Given the description of an element on the screen output the (x, y) to click on. 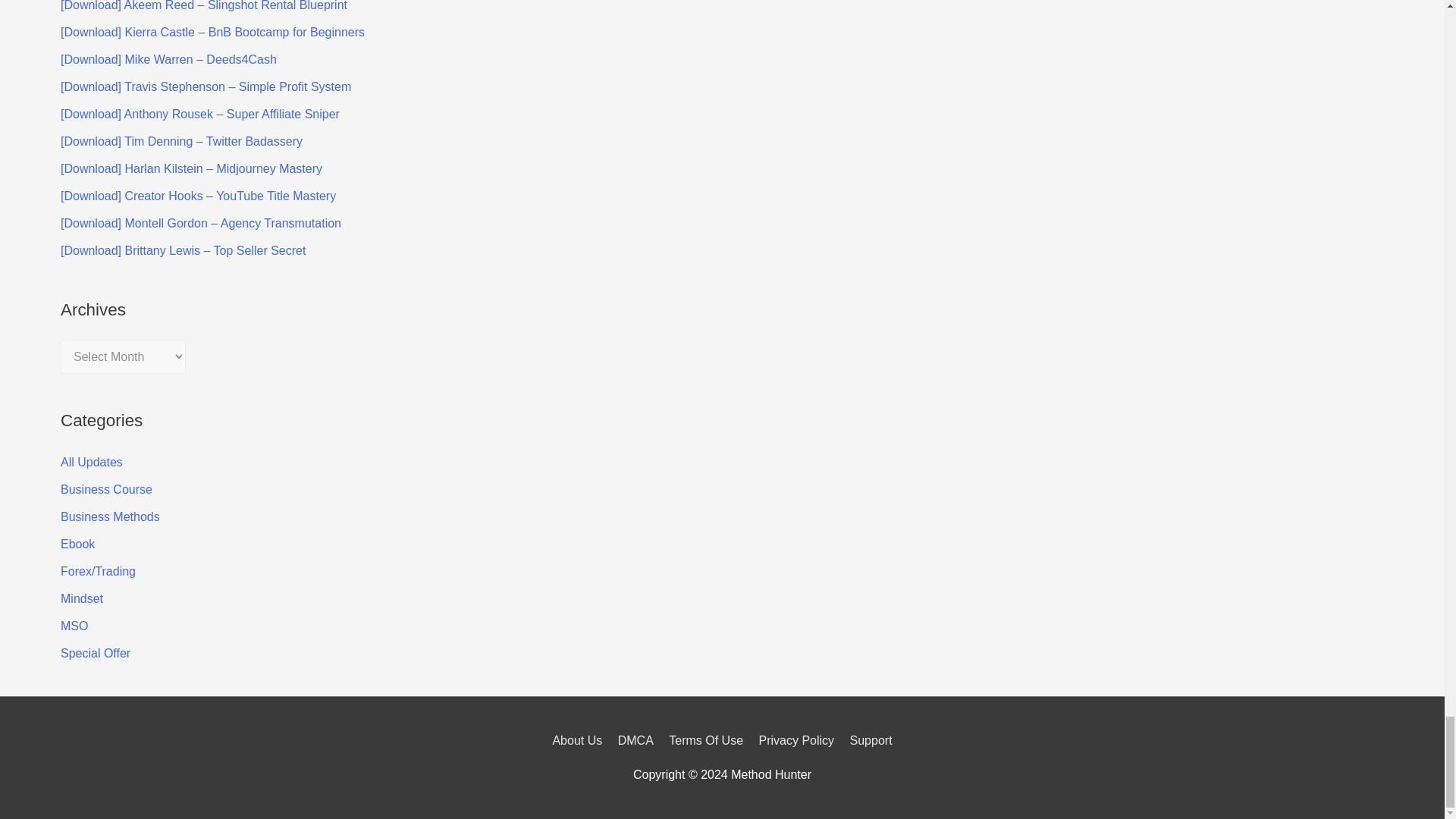
All Updates (91, 461)
Business Course (106, 489)
Business Methods (110, 516)
